Given the description of an element on the screen output the (x, y) to click on. 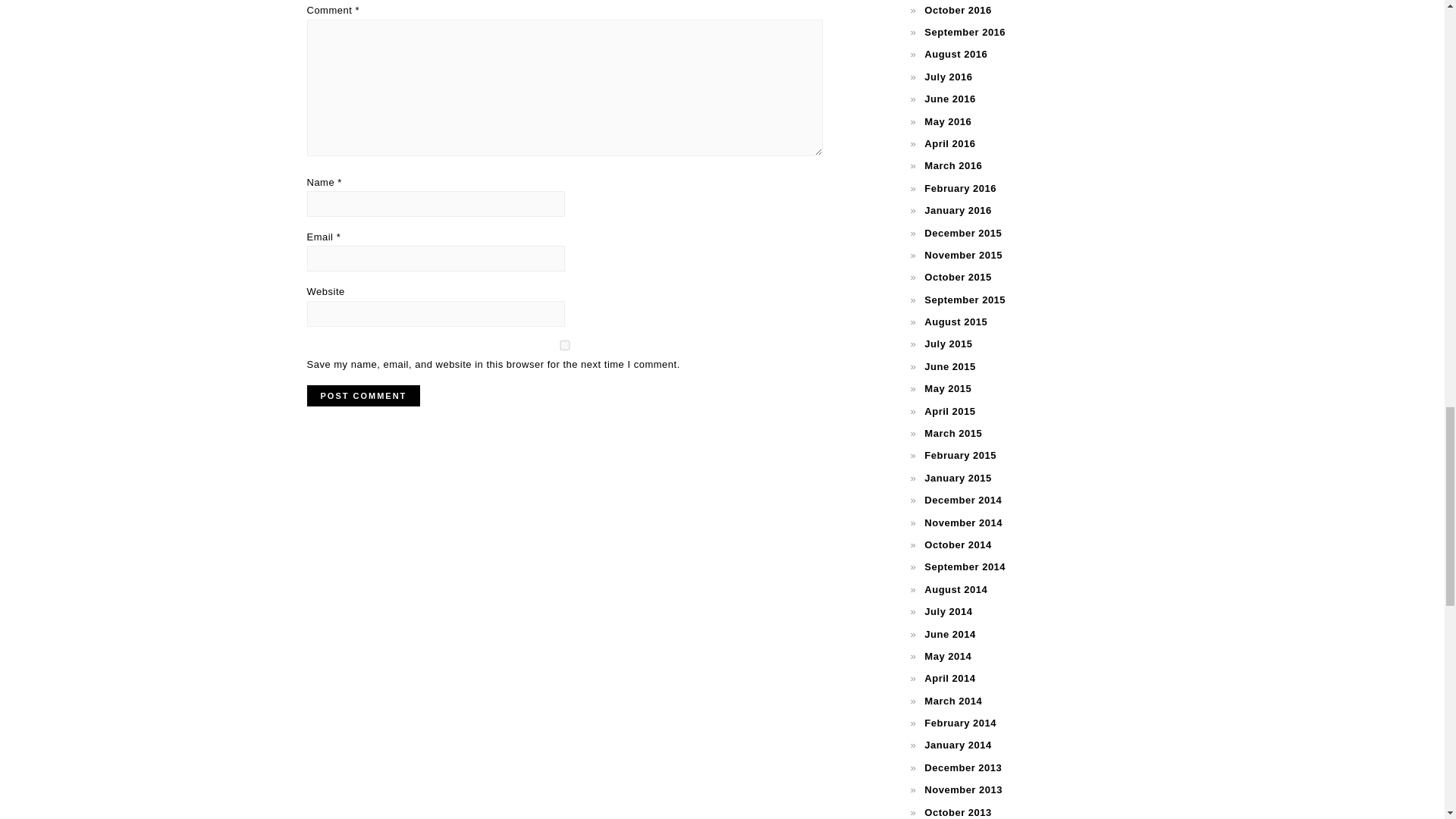
Post Comment (362, 395)
Post Comment (362, 395)
yes (563, 345)
